Given the description of an element on the screen output the (x, y) to click on. 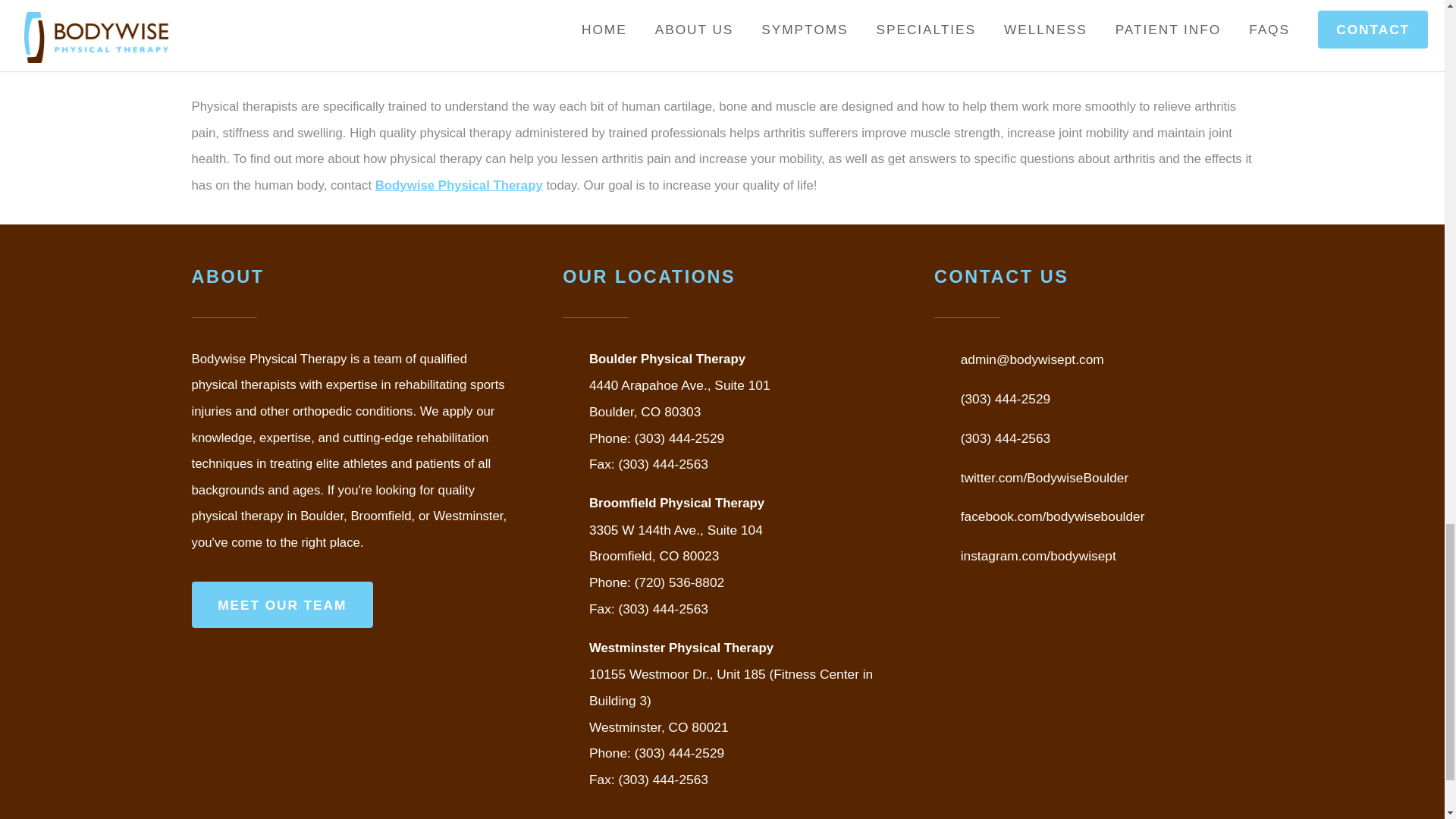
Bodywise Physical Therapy (459, 185)
MEET OUR TEAM (281, 604)
